Given the description of an element on the screen output the (x, y) to click on. 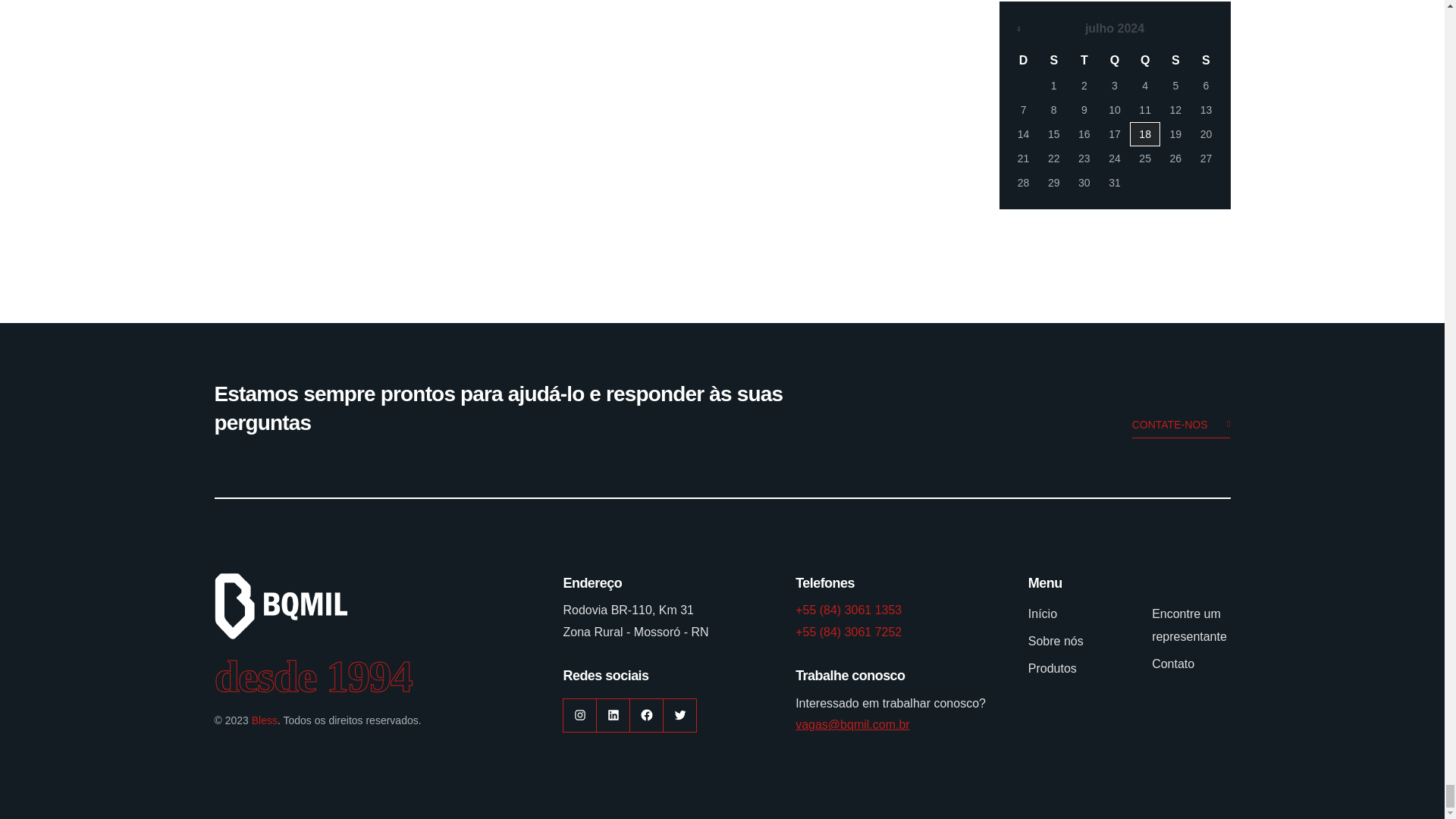
domingo (1024, 60)
segunda-feira (1053, 60)
